Given the description of an element on the screen output the (x, y) to click on. 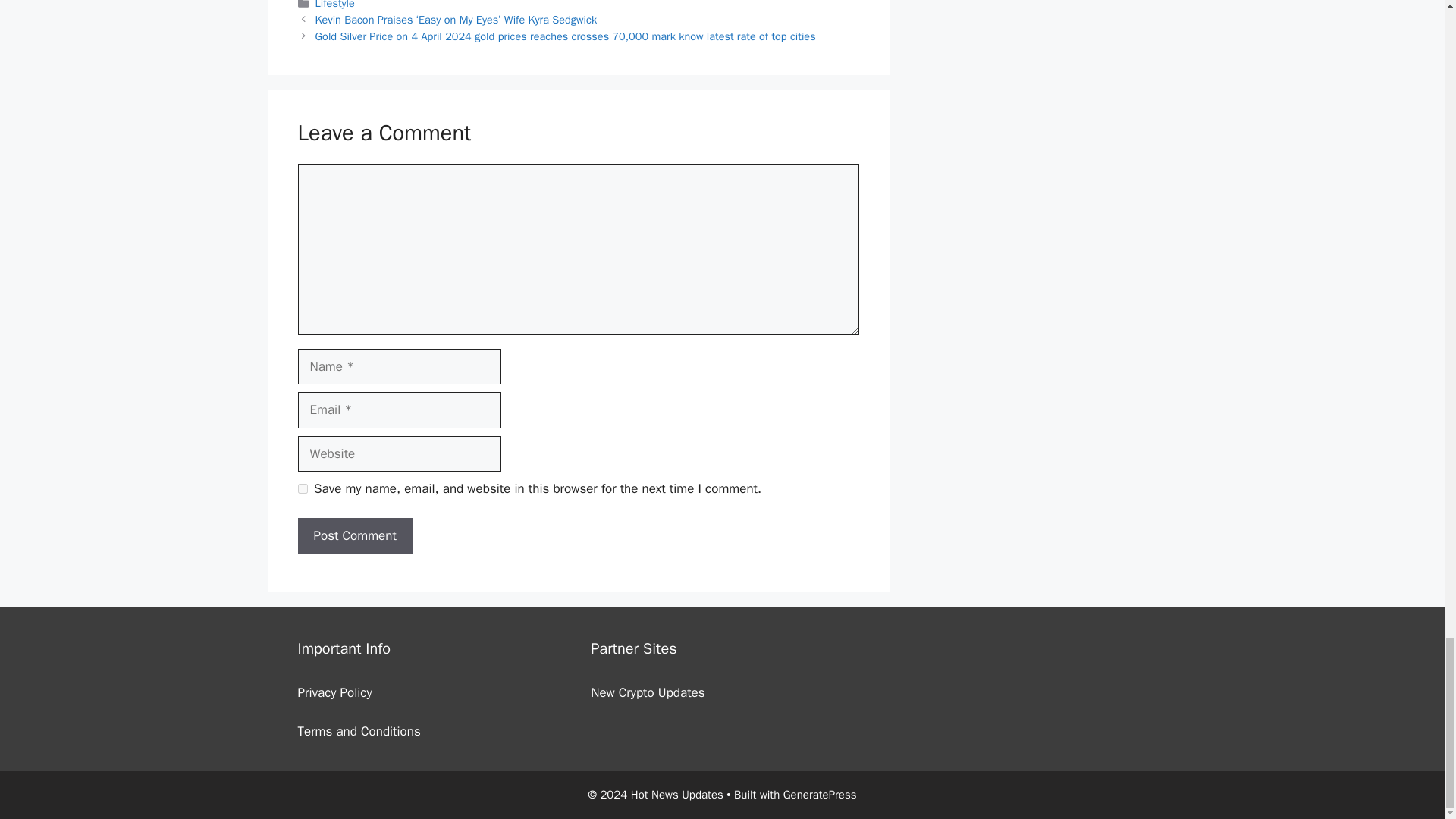
Post Comment (354, 535)
yes (302, 488)
